Given the description of an element on the screen output the (x, y) to click on. 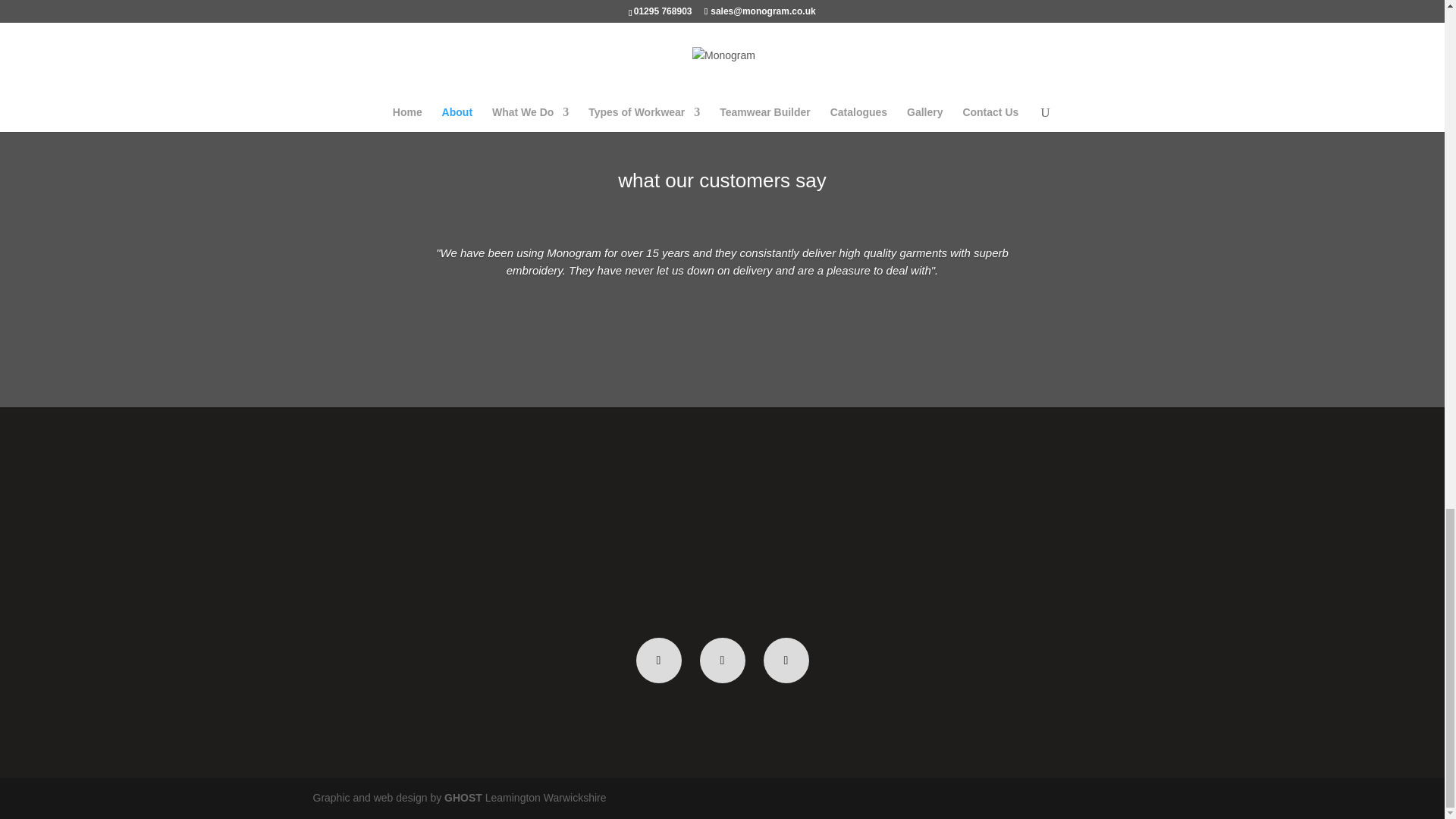
Follow on X (721, 660)
GHOST (462, 797)
Follow on Facebook (657, 660)
Follow on Instagram (785, 660)
